Given the description of an element on the screen output the (x, y) to click on. 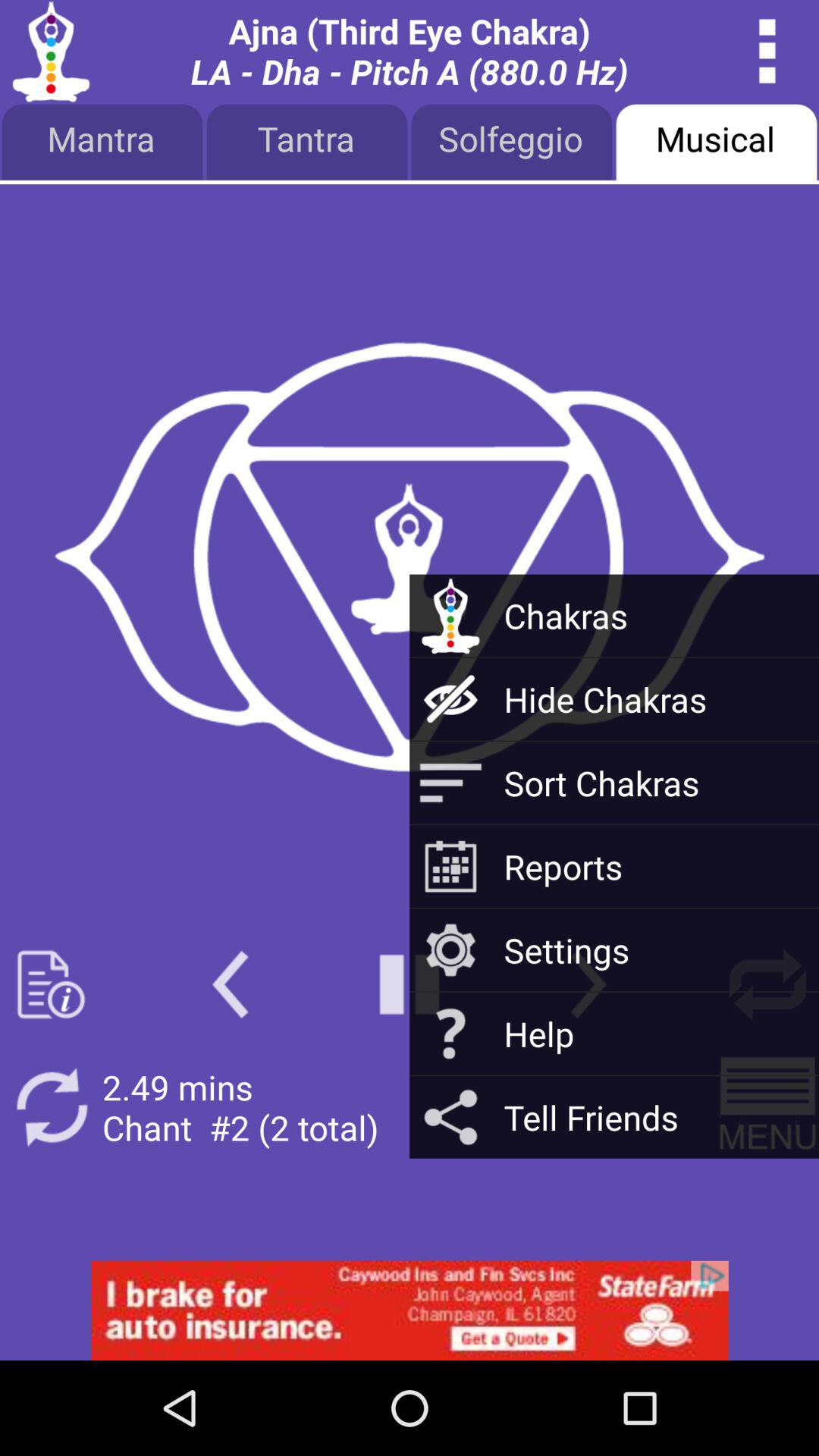
activate repeat song option (51, 1107)
